Given the description of an element on the screen output the (x, y) to click on. 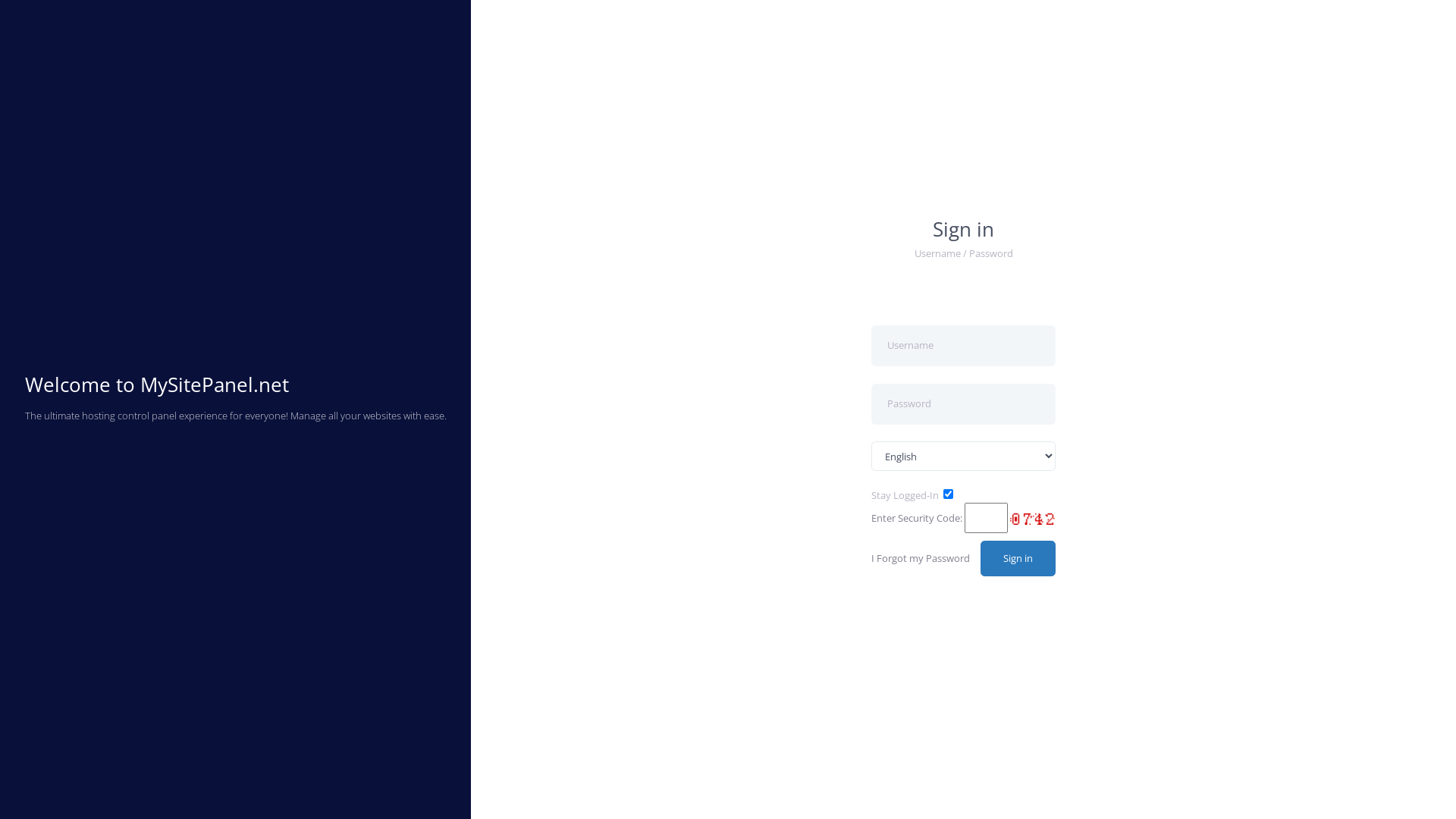
I Forgot my Password Element type: text (920, 558)
Stay Logged-In Element type: text (904, 495)
Sign in Element type: text (1017, 558)
